Given the description of an element on the screen output the (x, y) to click on. 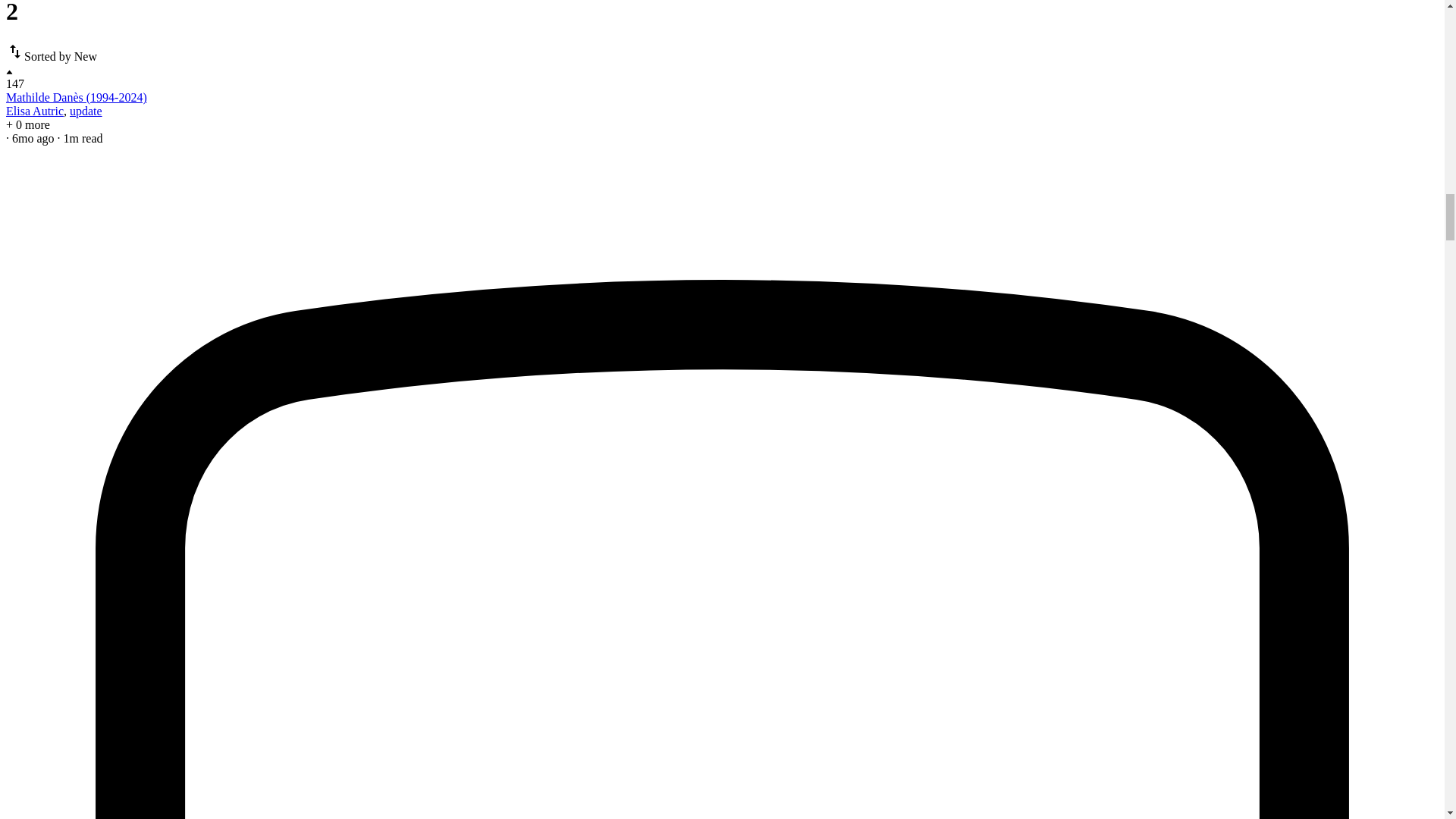
Elisa Autric (34, 110)
update (85, 110)
